Given the description of an element on the screen output the (x, y) to click on. 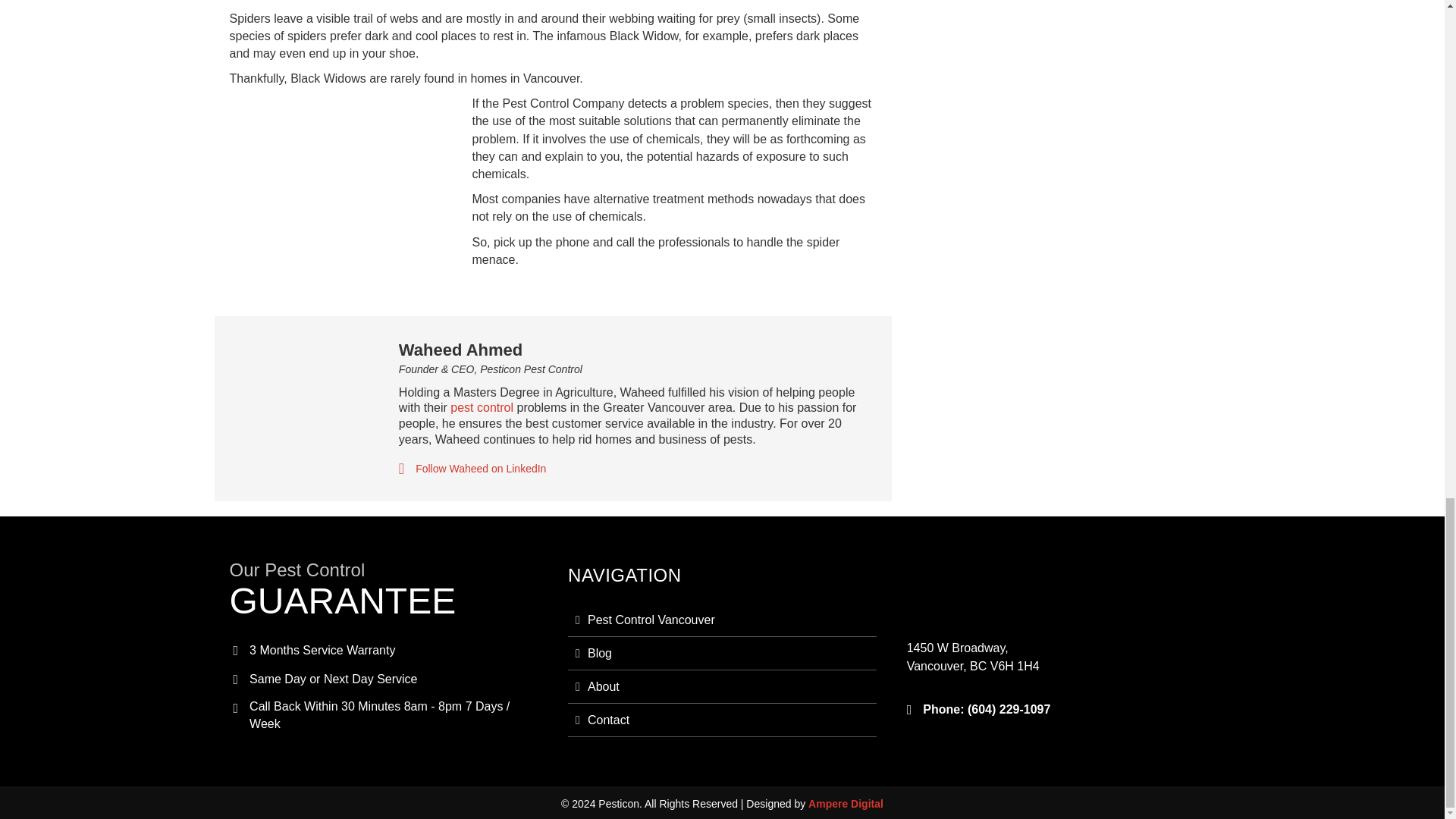
waheed ahmed (298, 399)
Follow Waheed on LinkedIn (480, 468)
pest control (481, 407)
Pesticon Pest Control Vancouver (986, 592)
